Given the description of an element on the screen output the (x, y) to click on. 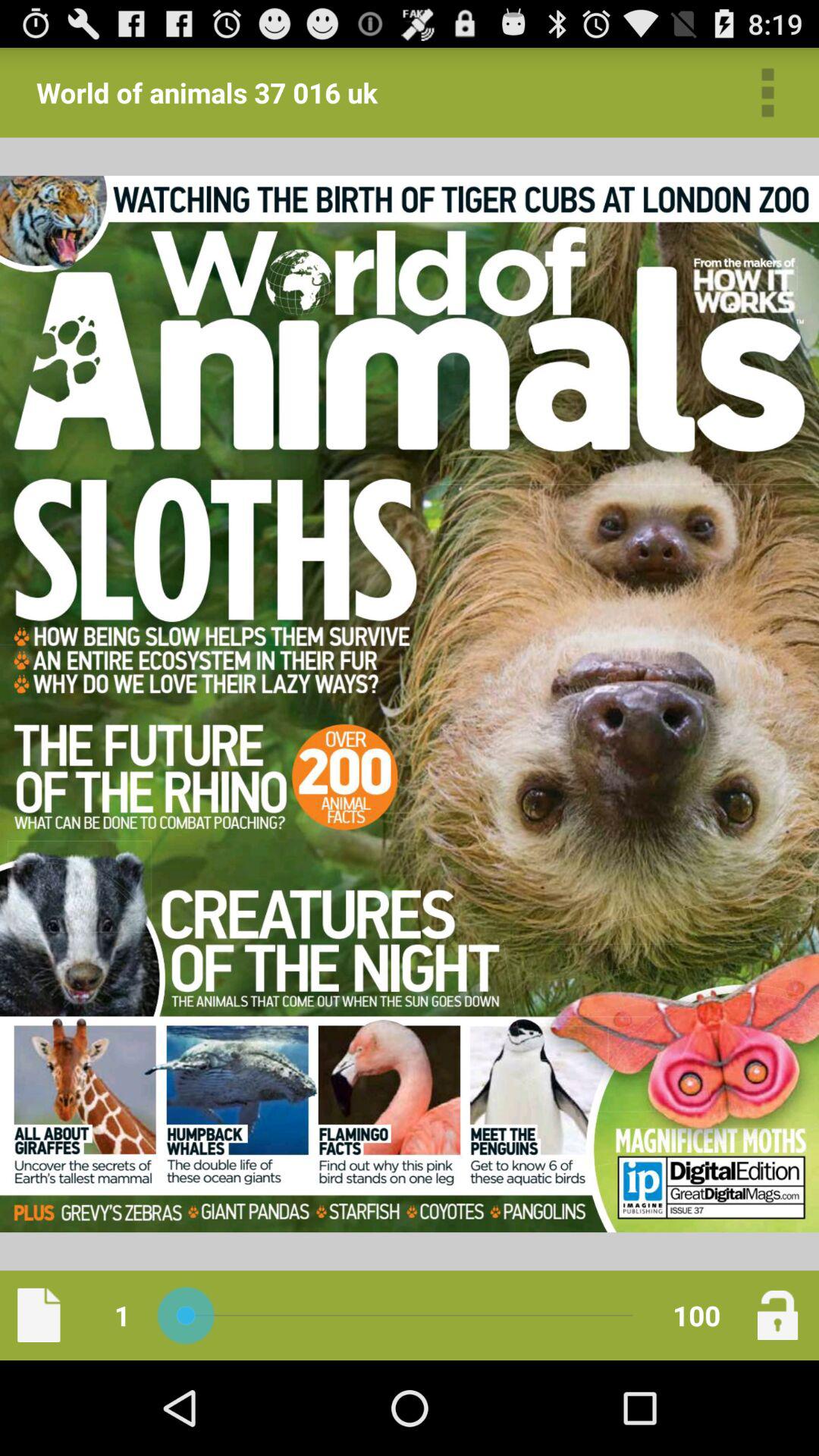
turn off the item next to 1 app (38, 1315)
